Given the description of an element on the screen output the (x, y) to click on. 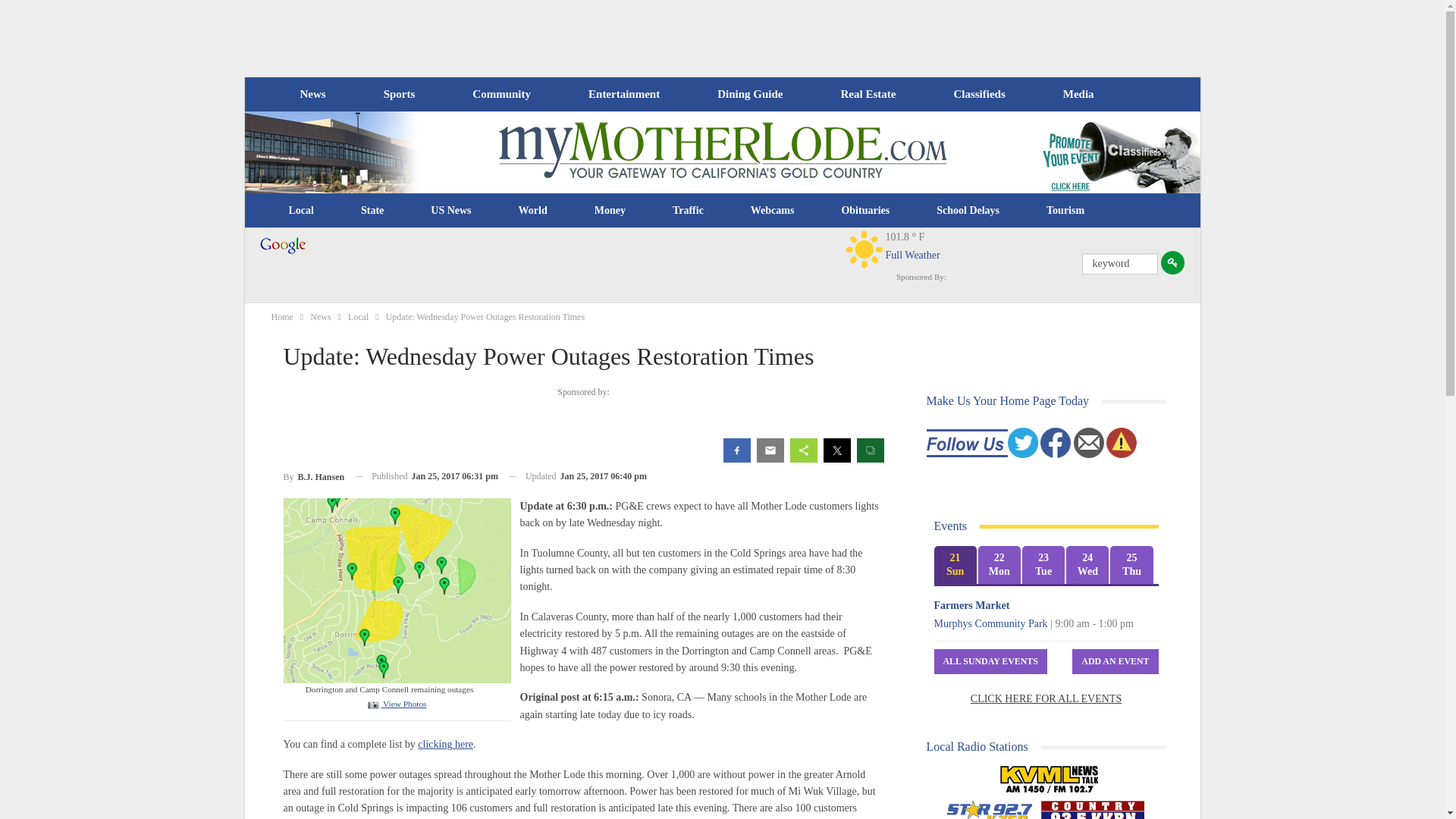
Classifieds (979, 93)
Add An Event (1114, 661)
Submit (1172, 262)
Entertainment (624, 93)
Local (300, 210)
Real Estate (868, 93)
Tourism (1065, 210)
All Sunday Events (990, 661)
Dining Guide (749, 93)
Update: Wednesday Power Outages Restoration Times (396, 703)
Money (609, 210)
Sports (399, 93)
World (532, 210)
